Given the description of an element on the screen output the (x, y) to click on. 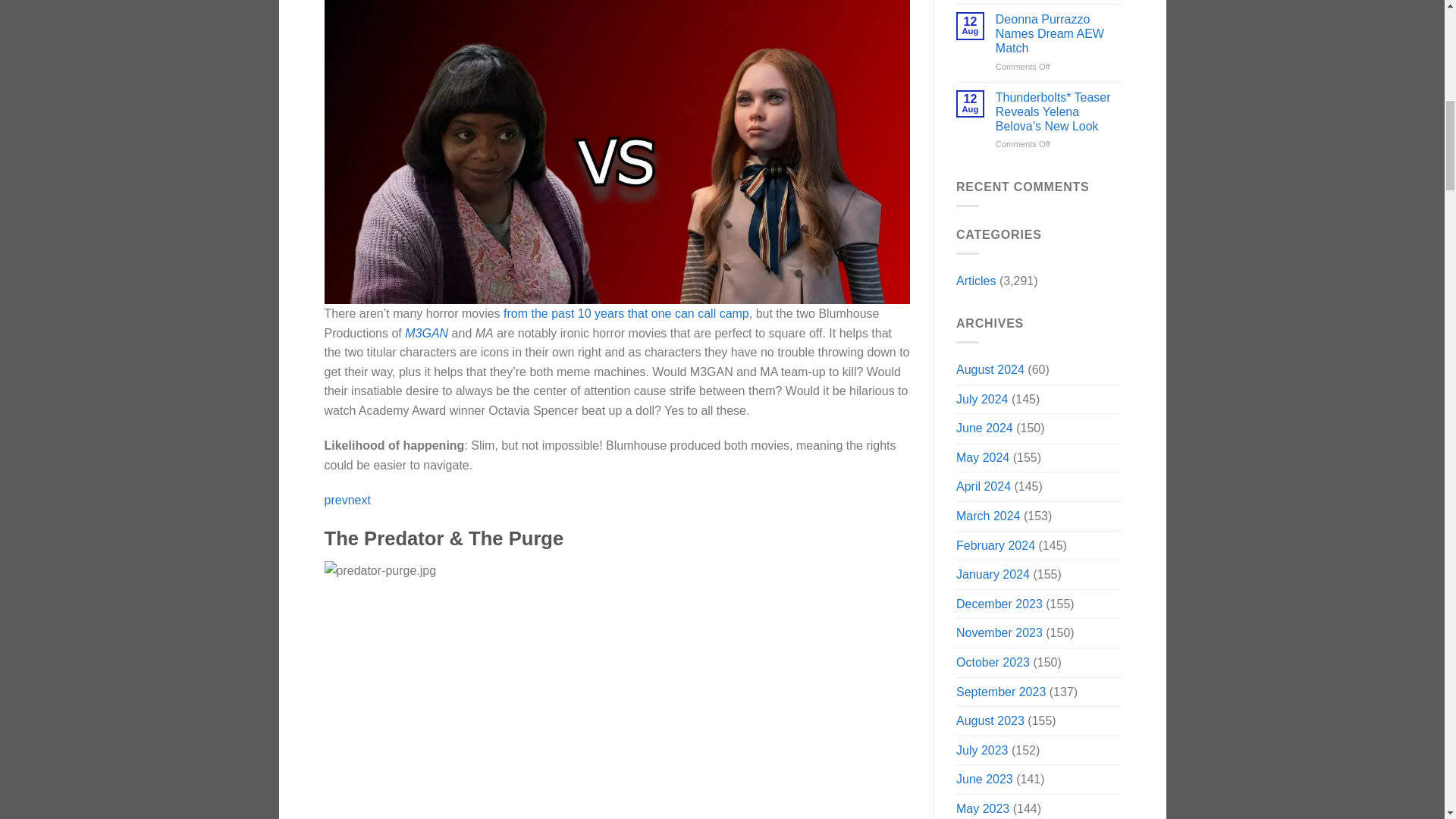
M3GAN (426, 332)
prev (335, 499)
from the past 10 years that one can call camp (626, 313)
next (359, 499)
